Given the description of an element on the screen output the (x, y) to click on. 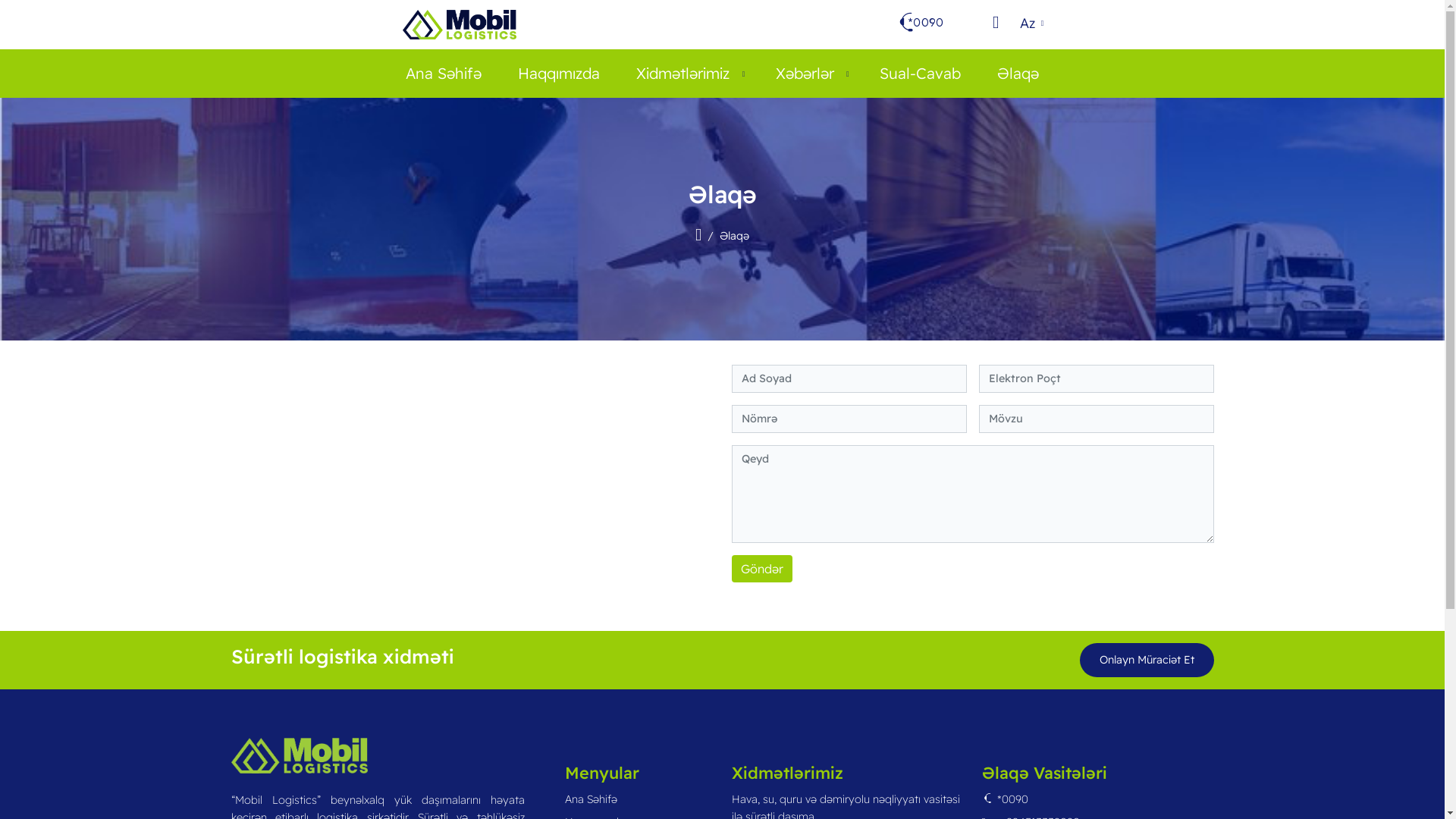
*0090 Element type: text (1004, 799)
Sual-Cavab Element type: text (919, 73)
